Given the description of an element on the screen output the (x, y) to click on. 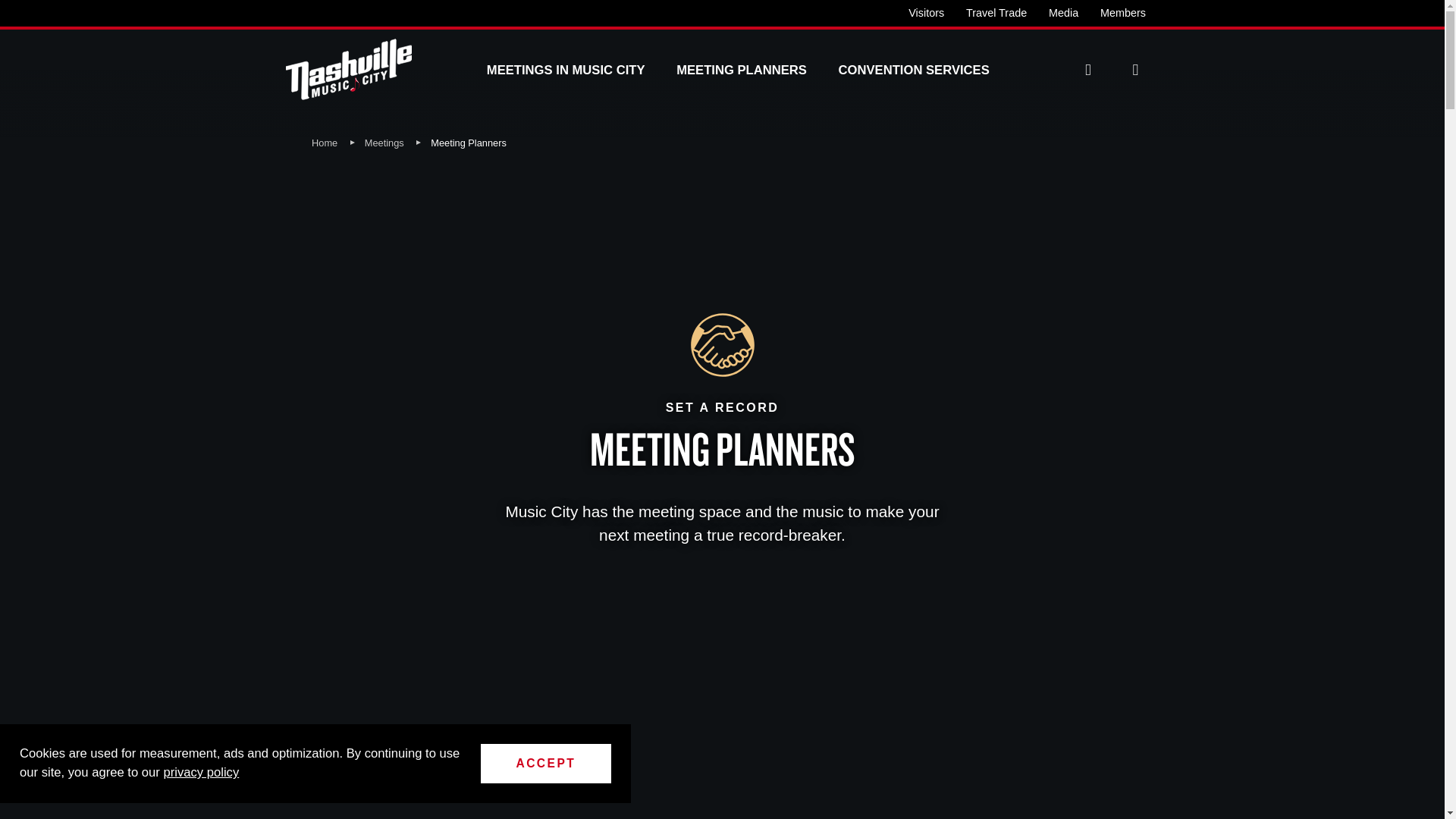
CONVENTION SERVICES (914, 70)
privacy policy (200, 771)
Language options and international information (1088, 69)
SEARCH (1134, 69)
Members (1122, 12)
Media (1063, 12)
LANGUAGES (1088, 69)
